Given the description of an element on the screen output the (x, y) to click on. 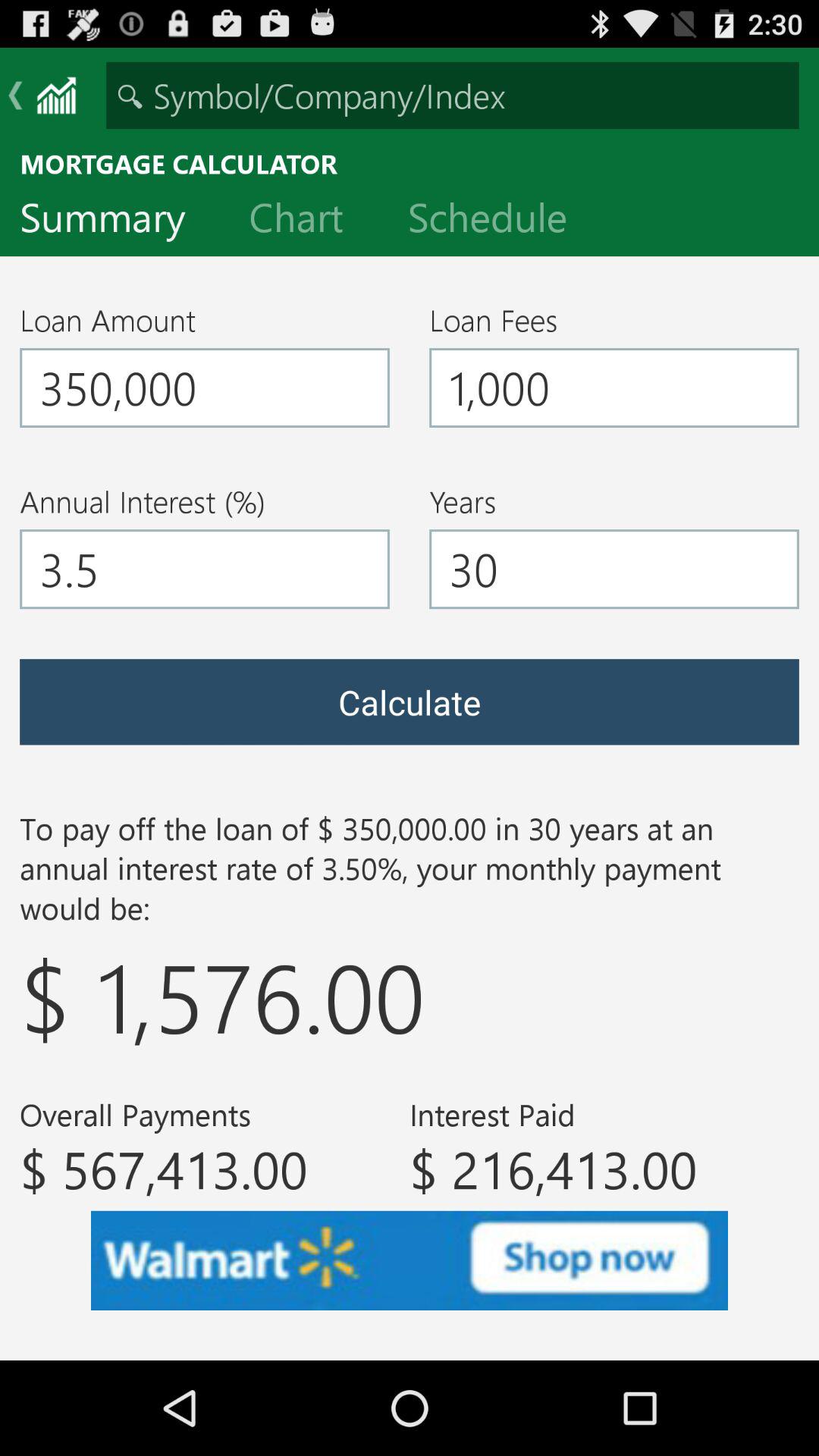
click the icon next to summary item (308, 220)
